Given the description of an element on the screen output the (x, y) to click on. 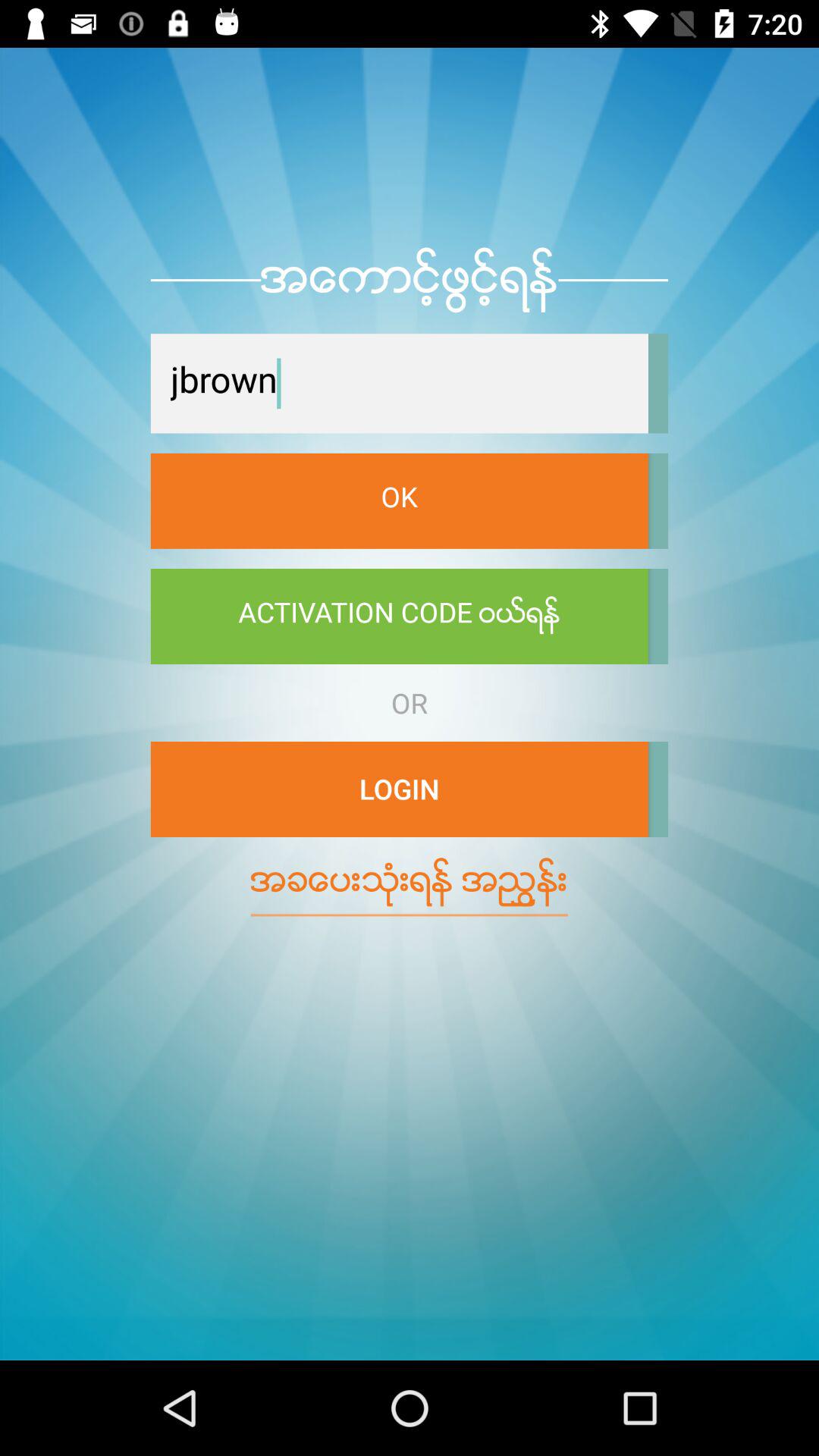
flip to the jbrown icon (399, 383)
